Given the description of an element on the screen output the (x, y) to click on. 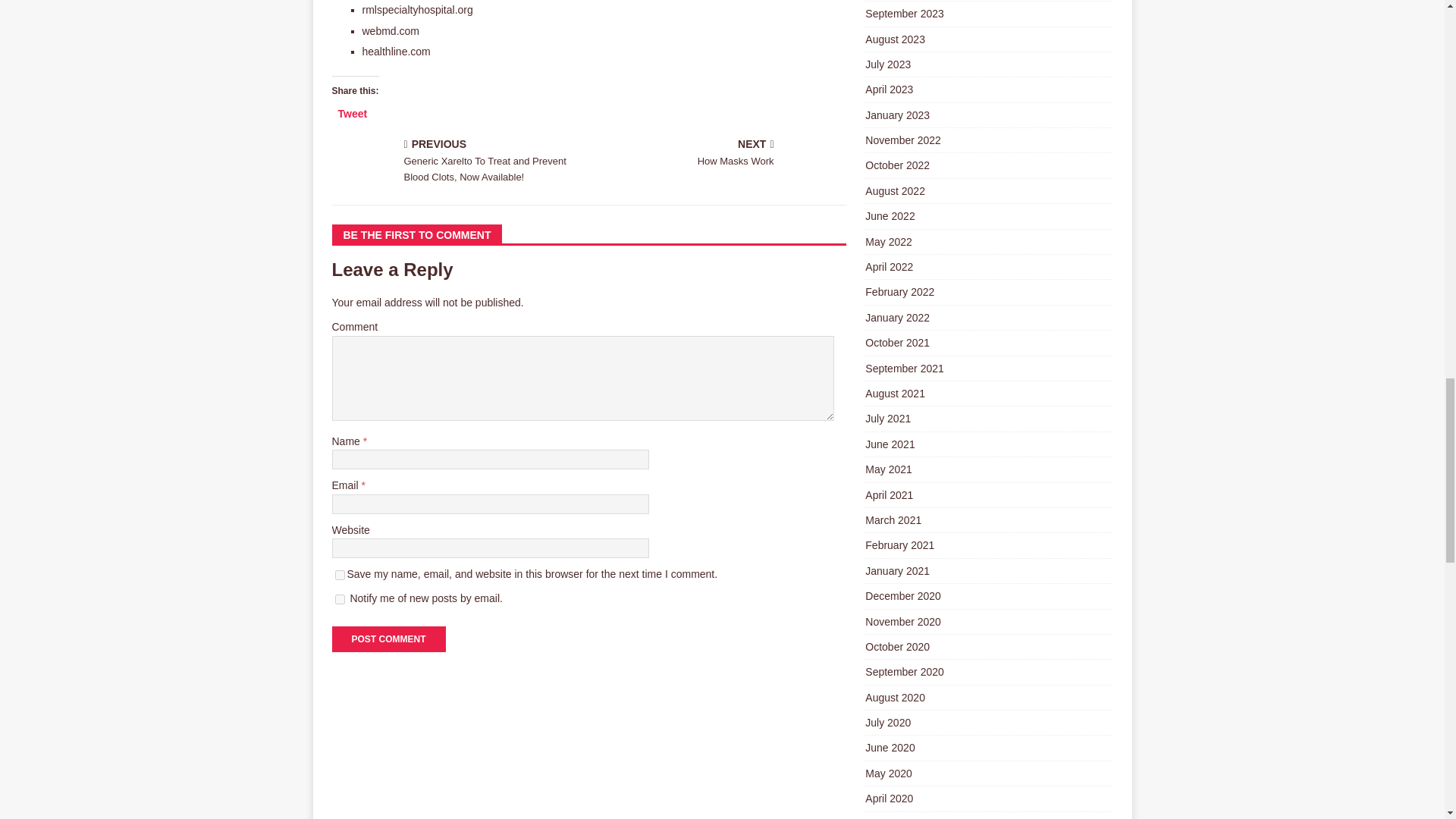
Tweet (352, 111)
Post Comment (388, 638)
Post Comment (388, 638)
yes (720, 153)
subscribe (339, 574)
